Given the description of an element on the screen output the (x, y) to click on. 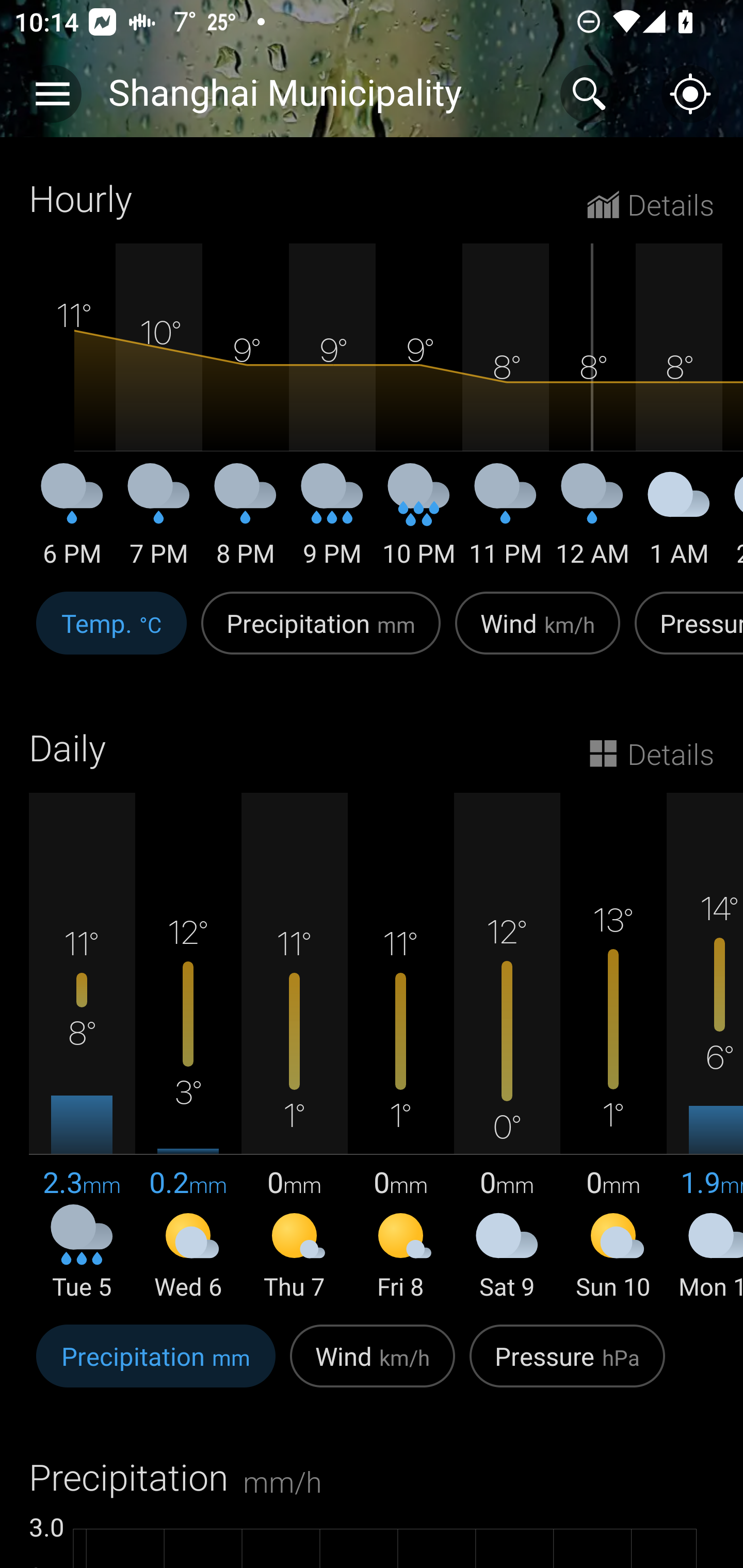
6 PM (71, 521)
7 PM (158, 521)
8 PM (245, 521)
9 PM (332, 521)
10 PM (418, 521)
11 PM (505, 521)
12 AM (592, 521)
1 AM (679, 521)
Temp. °C (110, 633)
Precipitation mm (320, 633)
Wind km/h (537, 633)
Pressure (685, 633)
11° 8° 2.3 mm Tue 5 (81, 1048)
12° 3° 0.2 mm Wed 6 (188, 1048)
11° 1° 0 mm Thu 7 (294, 1048)
11° 1° 0 mm Fri 8 (400, 1048)
12° 0° 0 mm Sat 9 (506, 1048)
13° 1° 0 mm Sun 10 (613, 1048)
14° 6° 1.9 mm Mon 11 (704, 1048)
Precipitation mm (155, 1366)
Wind km/h (372, 1366)
Pressure hPa (567, 1366)
